Given the description of an element on the screen output the (x, y) to click on. 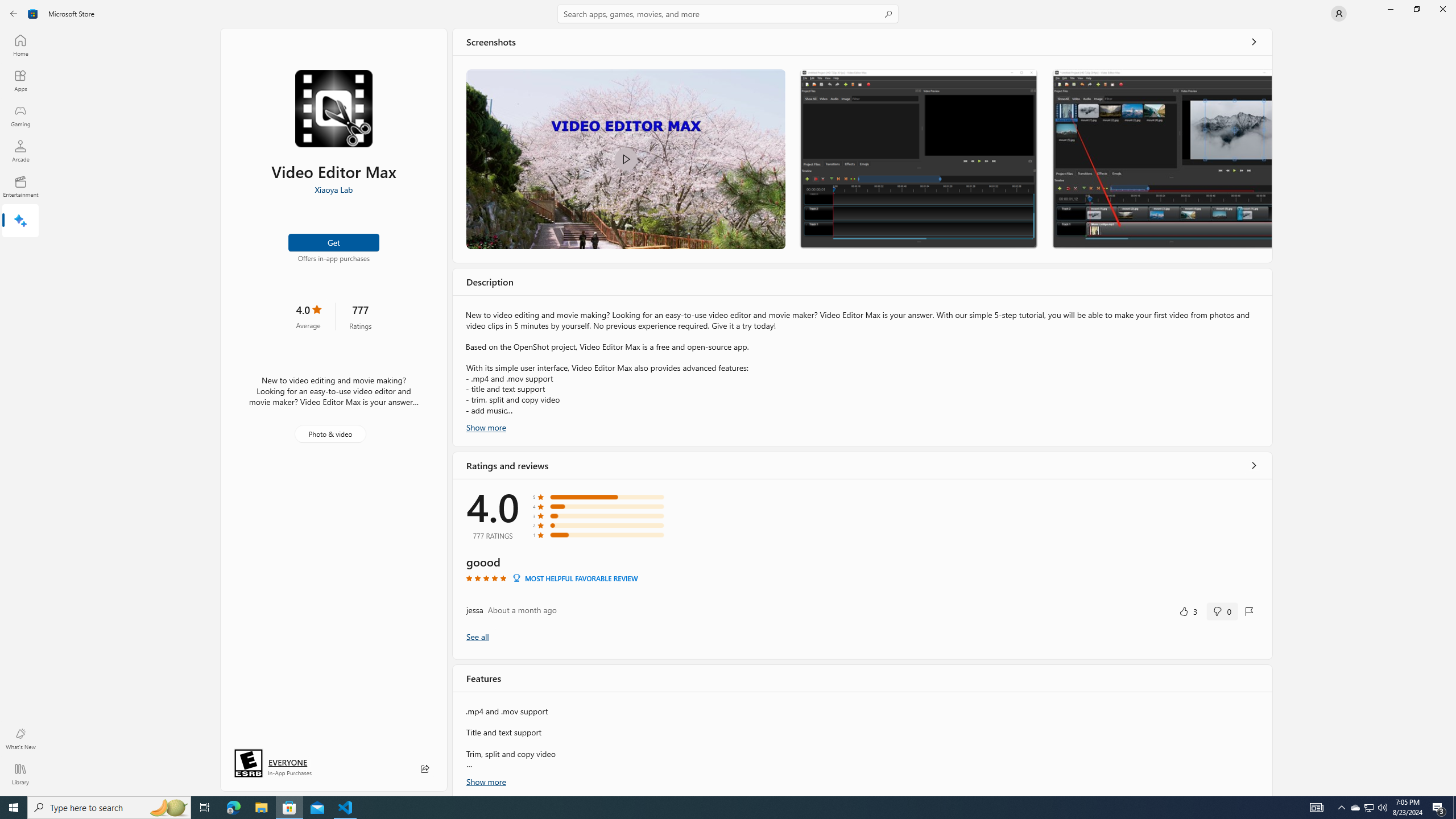
Report review (1248, 610)
Home (20, 45)
Screenshot 2 (917, 158)
Gaming (20, 115)
4.0 stars. Click to skip to ratings and reviews (307, 315)
Screenshot 3 (1161, 158)
Class: Image (624, 158)
Close Microsoft Store (1442, 9)
Get (334, 241)
Show all ratings and reviews (1253, 465)
Show more (485, 780)
Entertainment (20, 185)
Photo & video (329, 434)
Back (13, 13)
User profile (1338, 13)
